Given the description of an element on the screen output the (x, y) to click on. 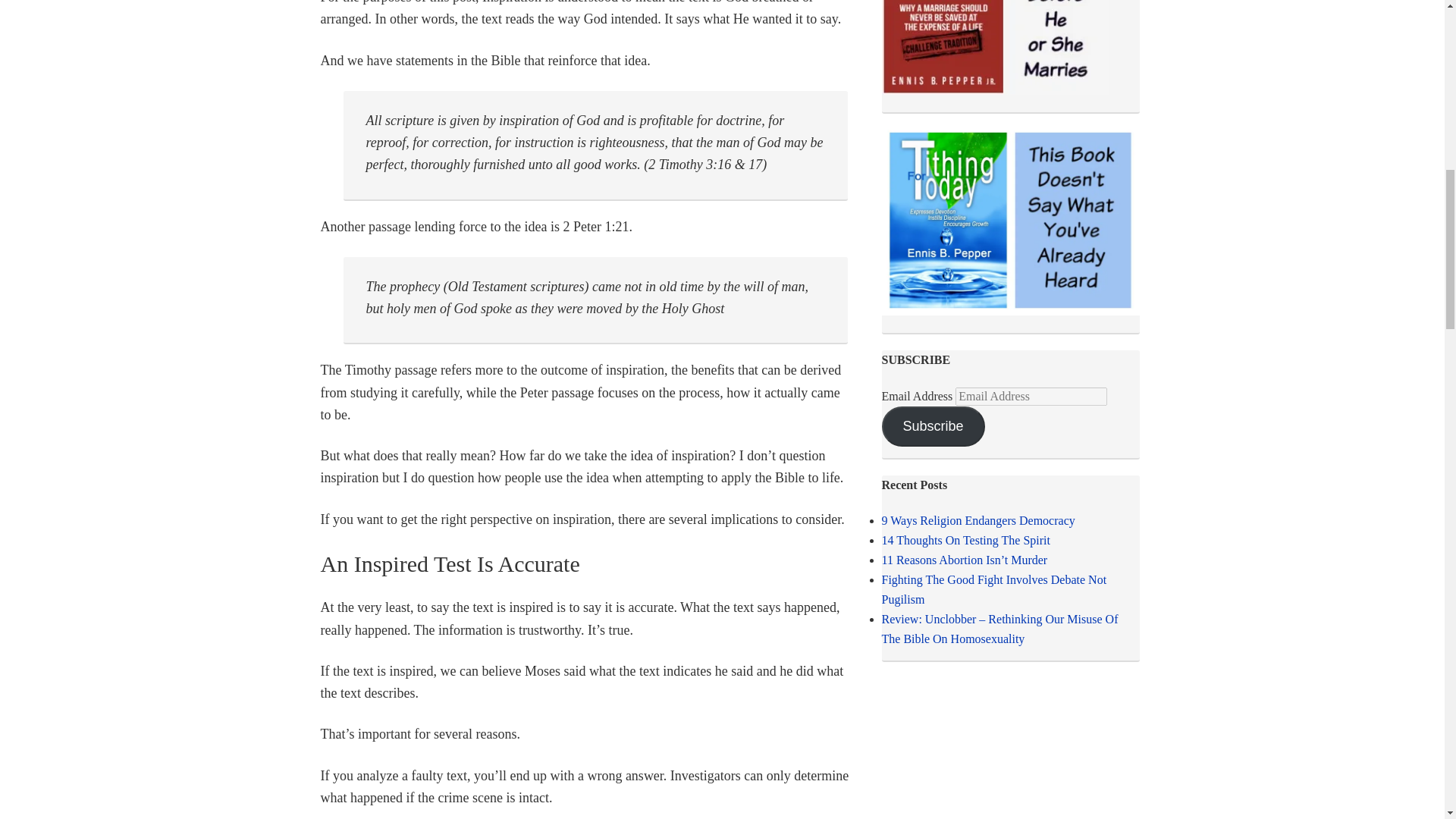
9 Ways Religion Endangers Democracy (977, 520)
Fighting The Good Fight Involves Debate Not Pugilism (993, 589)
14 Thoughts On Testing The Spirit (964, 540)
Subscribe (932, 426)
